Given the description of an element on the screen output the (x, y) to click on. 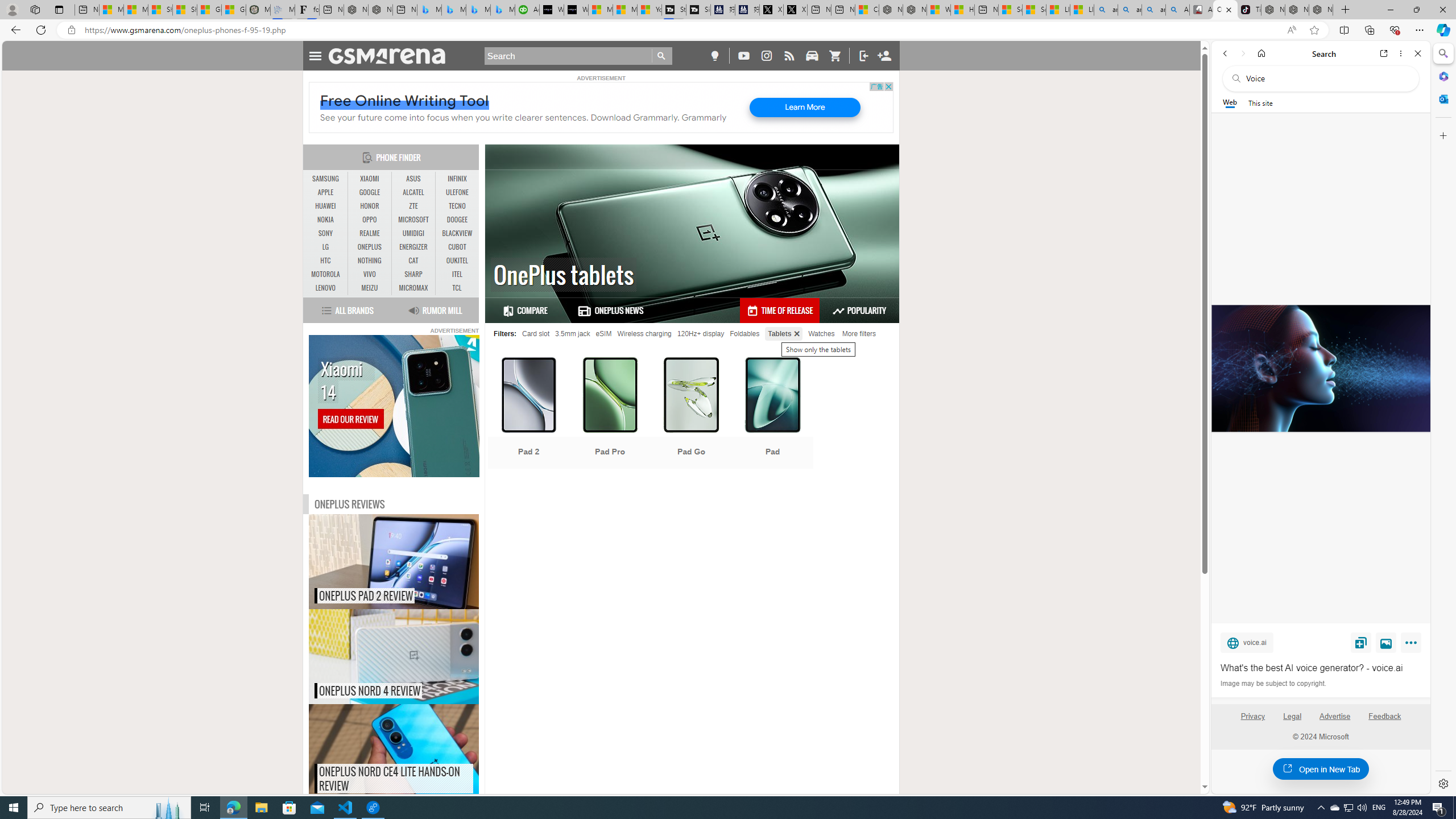
XIAOMI (369, 178)
More filters (858, 333)
MICROSOFT (413, 219)
ONEPLUS (369, 246)
HUAWEI (325, 205)
CUBOT (457, 246)
ZTE (413, 205)
OnePlus Nord CE4 Lite hands-on review (417, 751)
SHARP (413, 273)
SONY (325, 233)
Watches (821, 333)
3.5mm jack (571, 333)
